Given the description of an element on the screen output the (x, y) to click on. 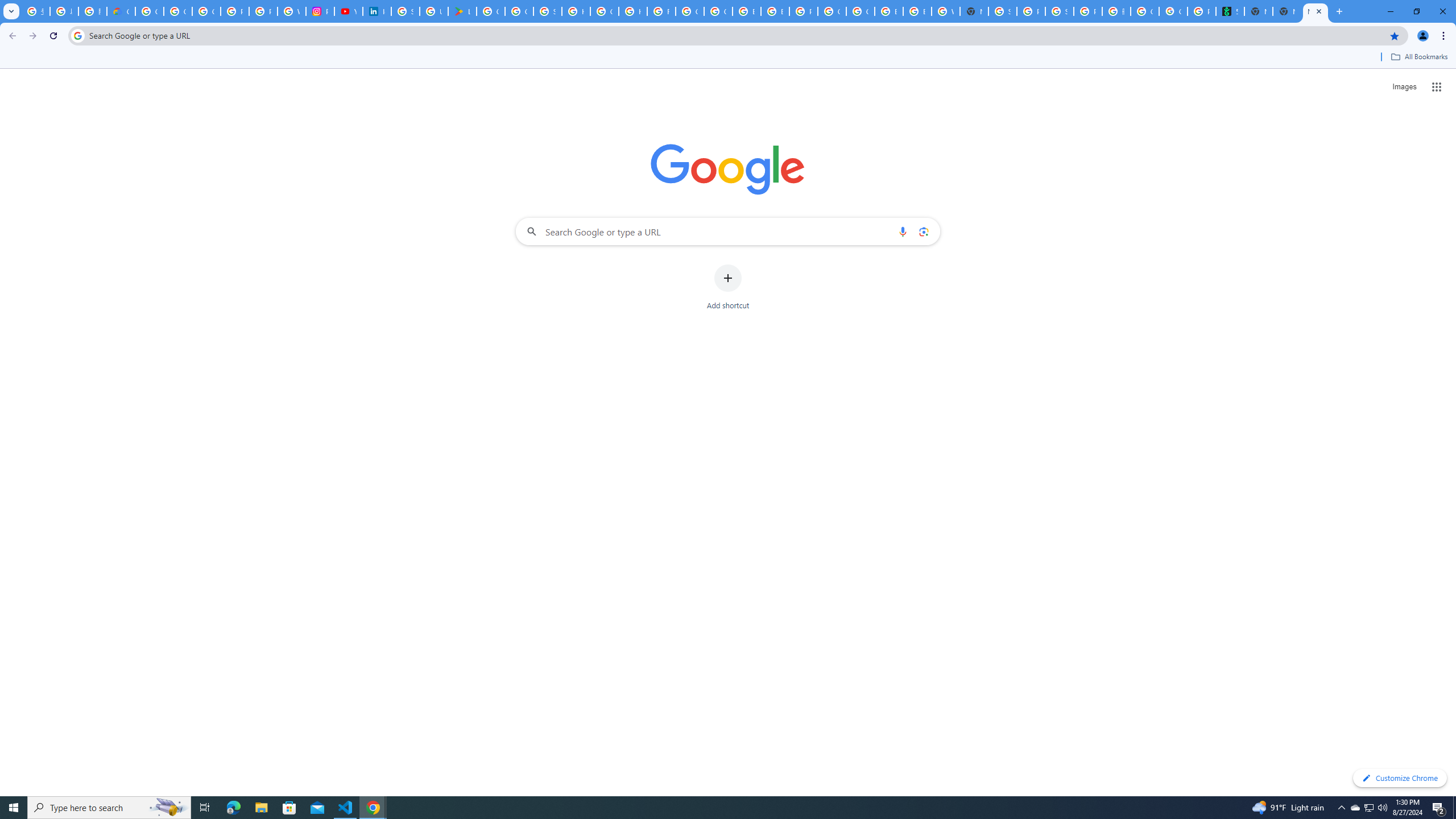
New Tab (973, 11)
YouTube Culture & Trends - On The Rise: Handcam Videos (348, 11)
Google Cloud Platform (860, 11)
Bookmarks (728, 58)
Sign in - Google Accounts (405, 11)
